Given the description of an element on the screen output the (x, y) to click on. 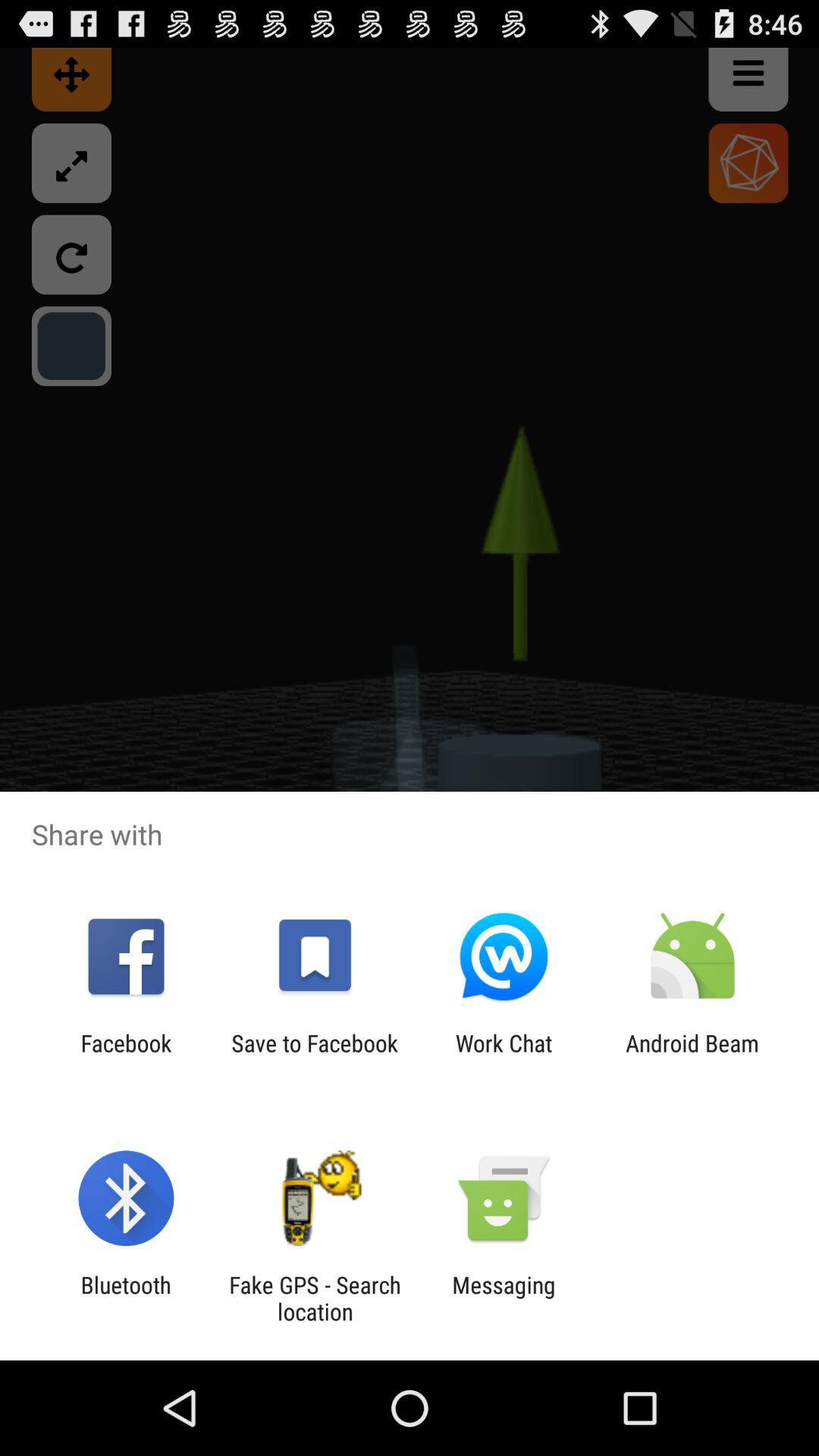
launch the item next to the fake gps search (503, 1298)
